Given the description of an element on the screen output the (x, y) to click on. 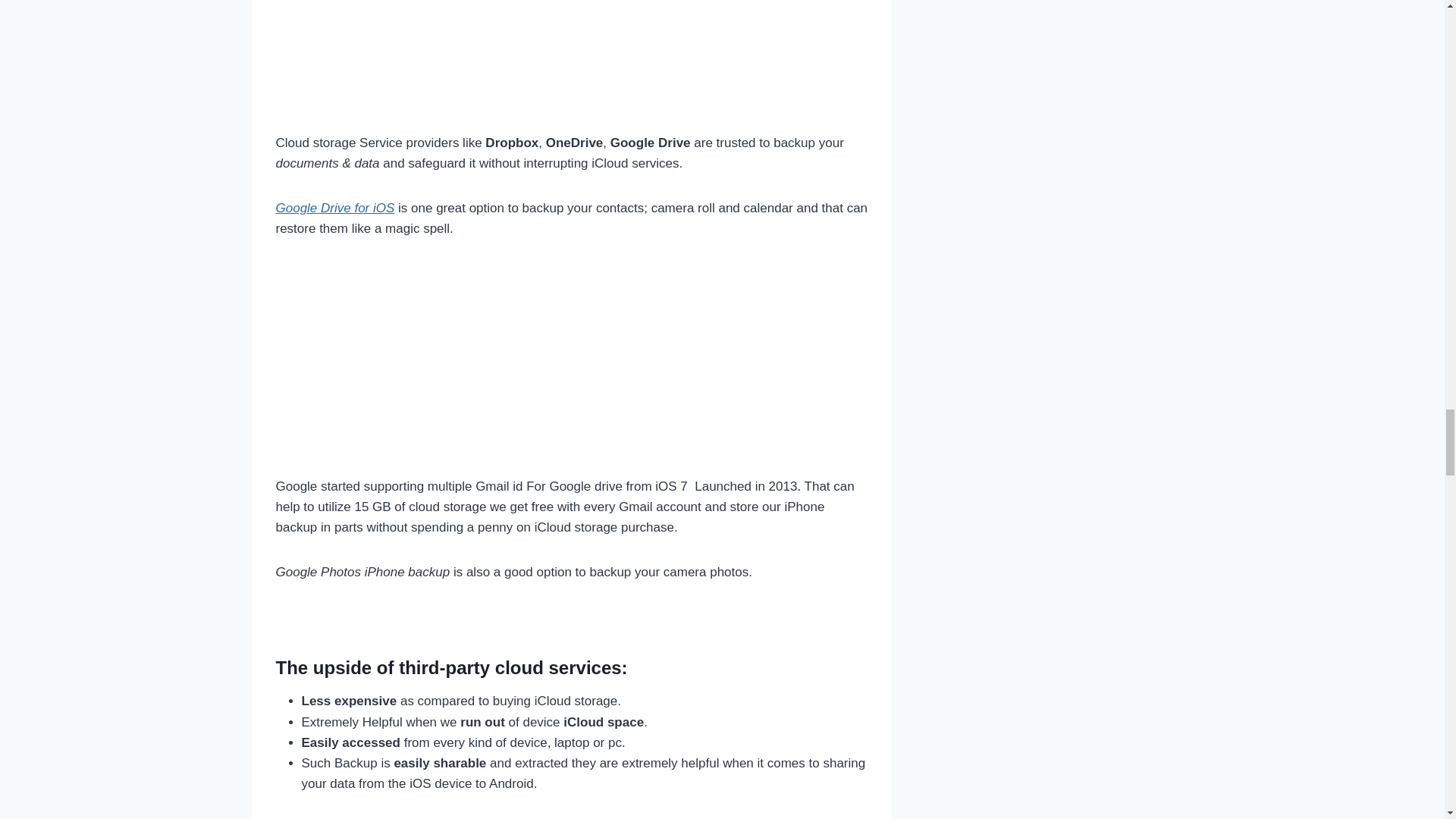
Google Drive for iOS (335, 207)
